Given the description of an element on the screen output the (x, y) to click on. 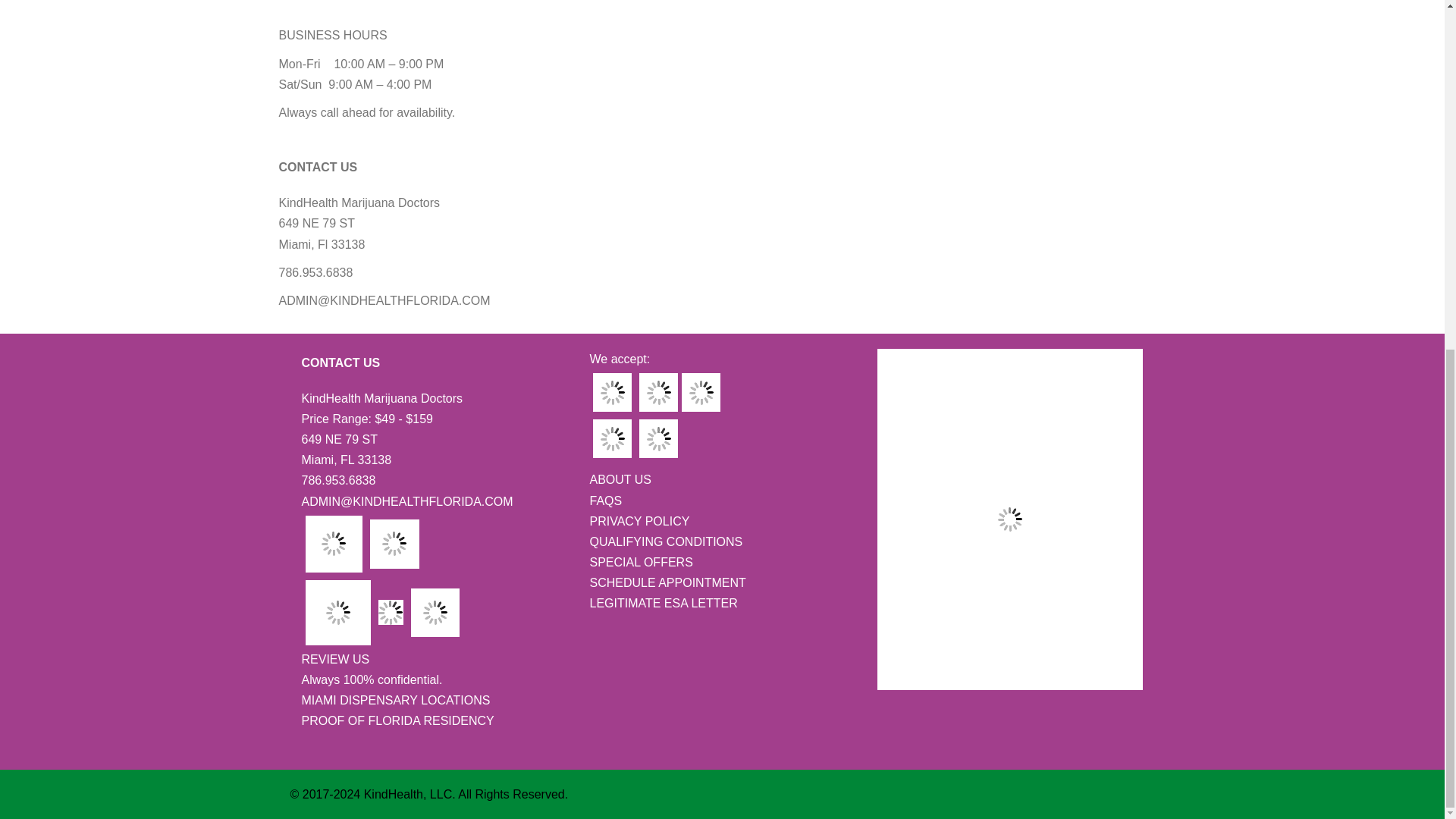
LEGITIMATE ESA LETTER (662, 602)
QUALIFYING CONDITIONS (665, 541)
REVIEW US (335, 659)
PROOF OF FLORIDA RESIDENCY (398, 720)
SPECIAL OFFERS (641, 562)
FAQS (605, 499)
PRIVACY POLICY (638, 521)
SCHEDULE APPOINTMENT (667, 582)
ABOUT US (619, 479)
MIAMI DISPENSARY LOCATIONS (395, 700)
